Given the description of an element on the screen output the (x, y) to click on. 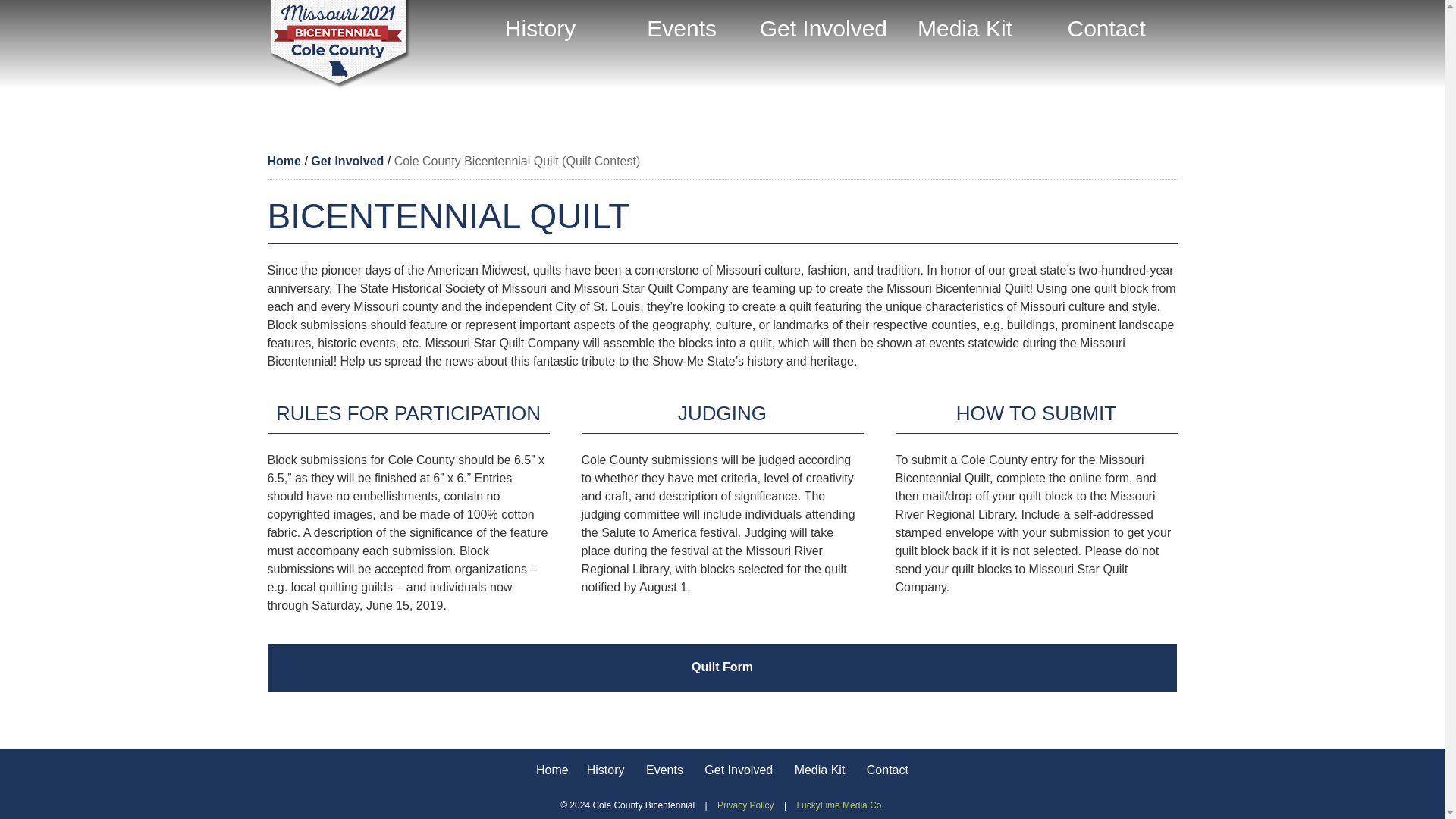
Contact (887, 769)
Get Involved (349, 160)
Home (285, 160)
Events (681, 28)
History (605, 769)
Media Kit (820, 769)
Home (285, 160)
Events (665, 769)
Get Involved (738, 769)
Get Involved (349, 160)
Contact (1106, 28)
Get Involved (823, 28)
Cole County Bicentennial Logo (367, 44)
History (539, 28)
Cole County Bicentennial (338, 44)
